Given the description of an element on the screen output the (x, y) to click on. 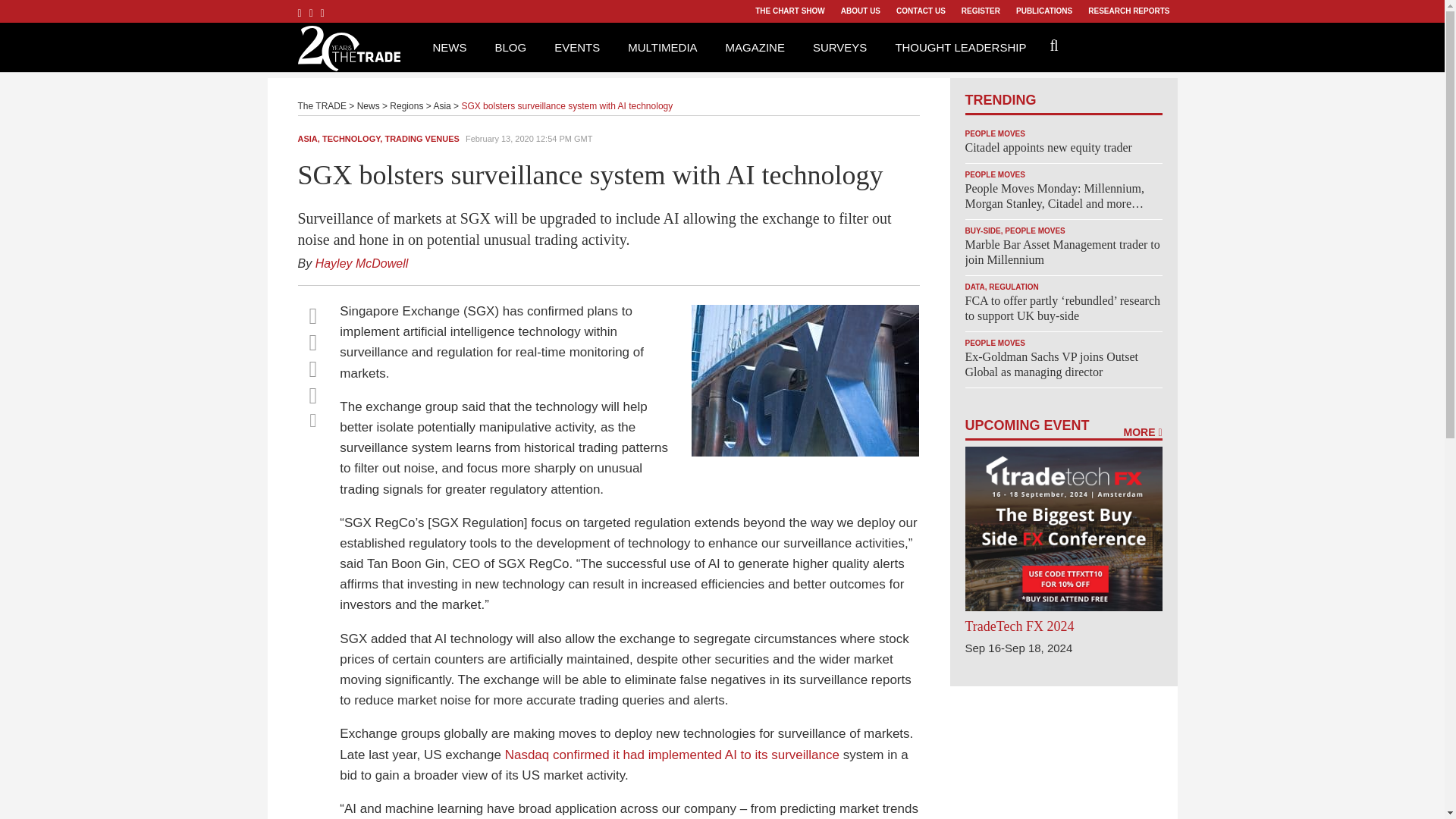
THE CHART SHOW (789, 11)
Go to the Asia Category archives. (440, 105)
REGISTER (980, 11)
Go to the Regions Category archives. (406, 105)
CONTACT US (920, 11)
PUBLICATIONS (1043, 11)
Go to the News Category archives. (368, 105)
Go to The TRADE. (321, 105)
ABOUT US (860, 11)
